Given the description of an element on the screen output the (x, y) to click on. 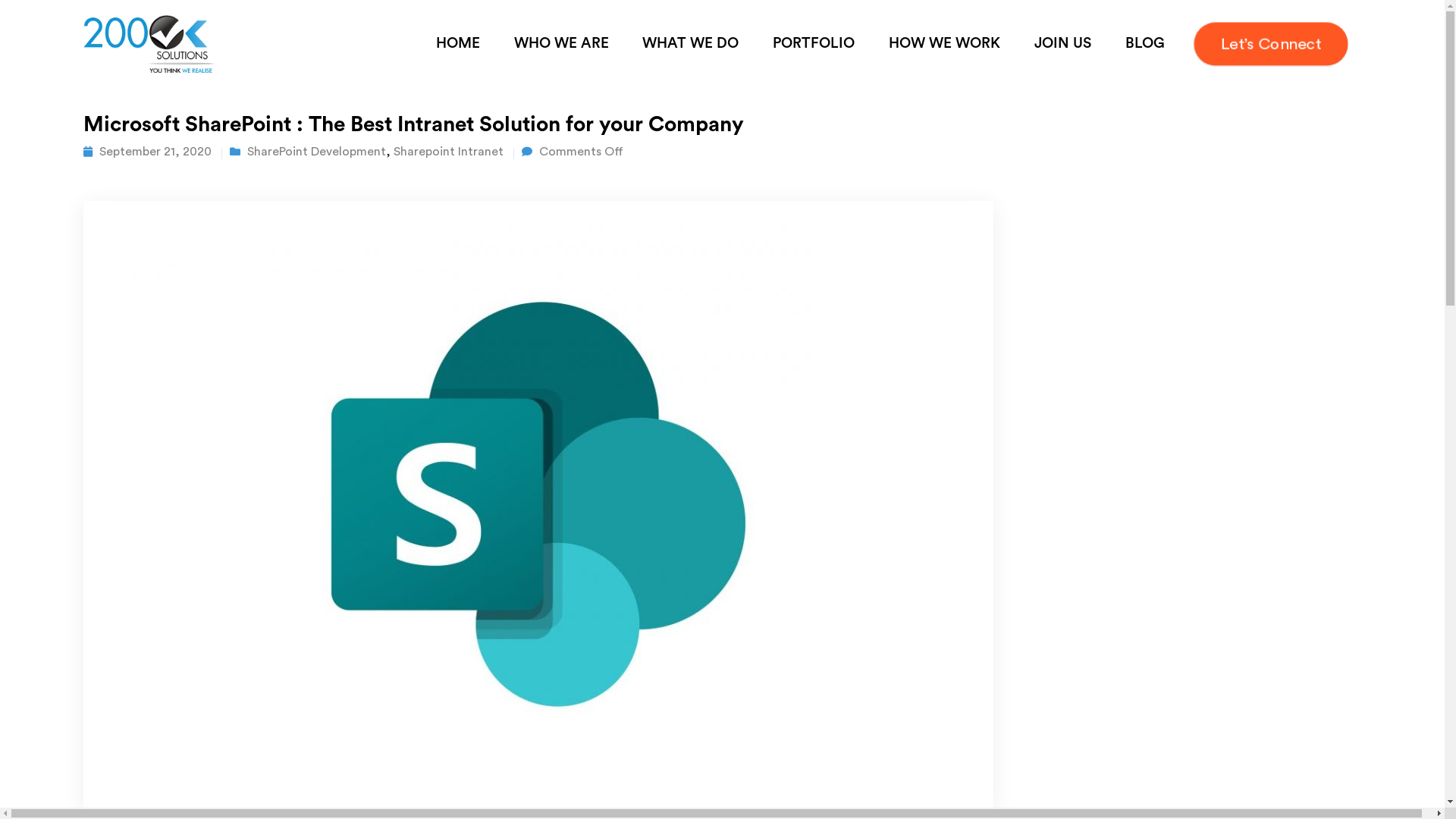
WHO WE ARE Element type: text (560, 43)
HOW WE WORK Element type: text (944, 43)
PORTFOLIO Element type: text (814, 43)
SharePoint Development Element type: text (316, 151)
WHAT WE DO Element type: text (690, 43)
Sharepoint Intranet Element type: text (448, 151)
BLOG Element type: text (1144, 43)
JOIN US Element type: text (1061, 43)
September 21, 2020 Element type: text (155, 151)
HOME Element type: text (457, 43)
